Given the description of an element on the screen output the (x, y) to click on. 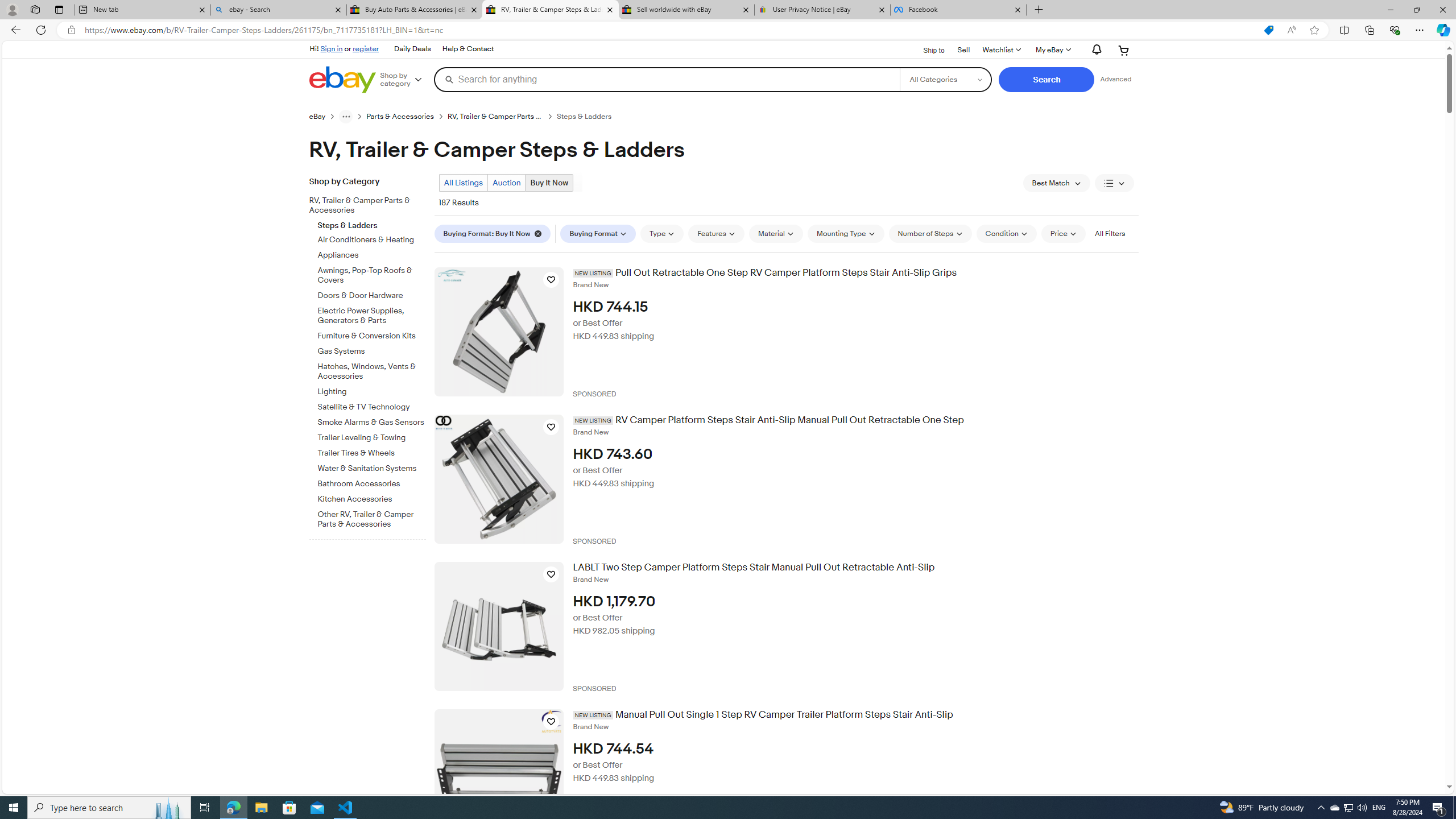
RV, Trailer & Camper Parts & Accessories (362, 205)
Condition (1005, 233)
Price (1063, 233)
App bar (728, 29)
All Listings (462, 182)
Smoke Alarms & Gas Sensors (371, 420)
Material (775, 233)
Kitchen Accessories (371, 497)
breadcrumb menu (346, 116)
Other RV, Trailer & Camper Parts & Accessories (371, 517)
Your shopping cart (1123, 49)
Shop by category (405, 79)
